Given the description of an element on the screen output the (x, y) to click on. 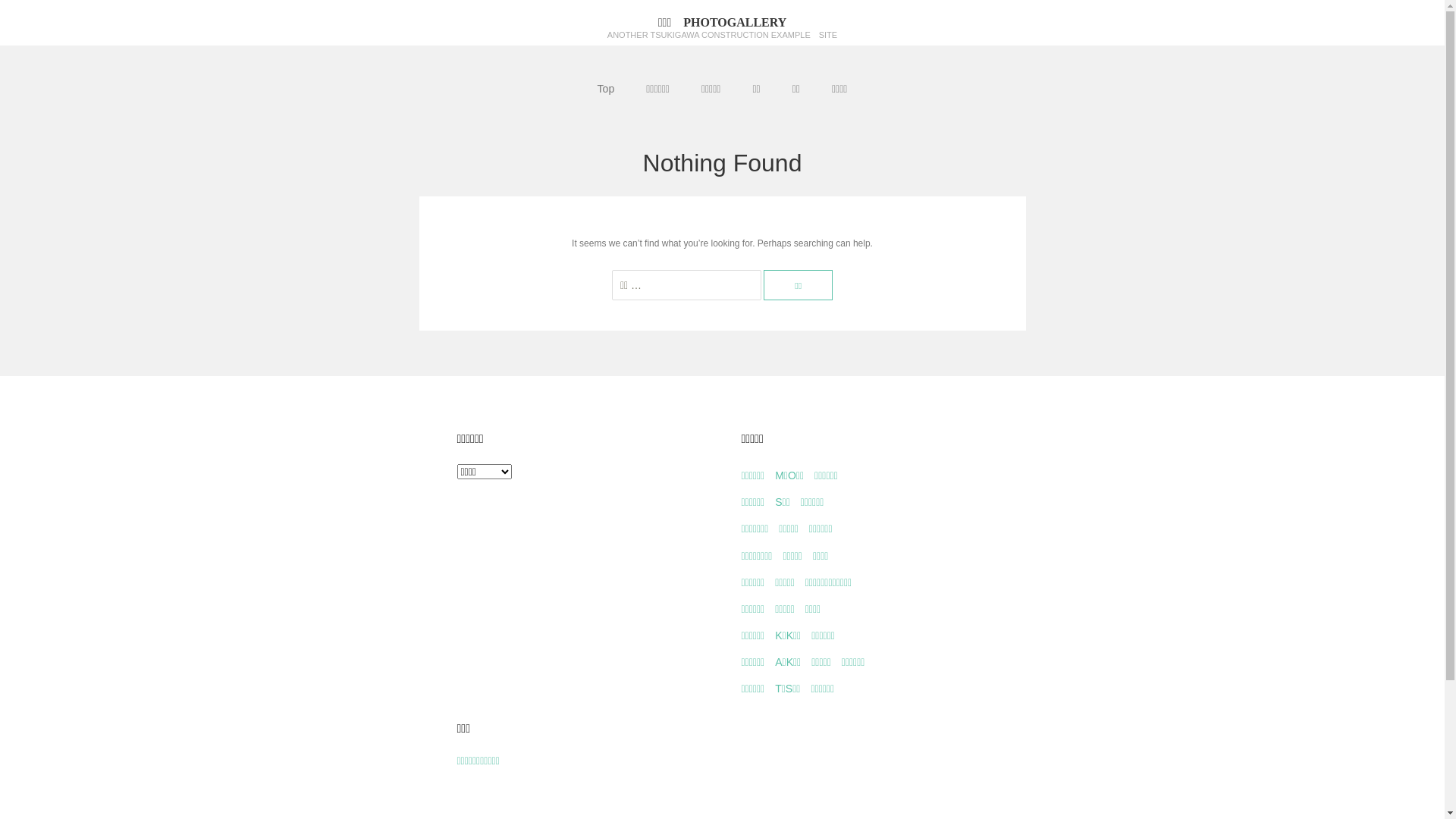
Top Element type: text (605, 88)
